Given the description of an element on the screen output the (x, y) to click on. 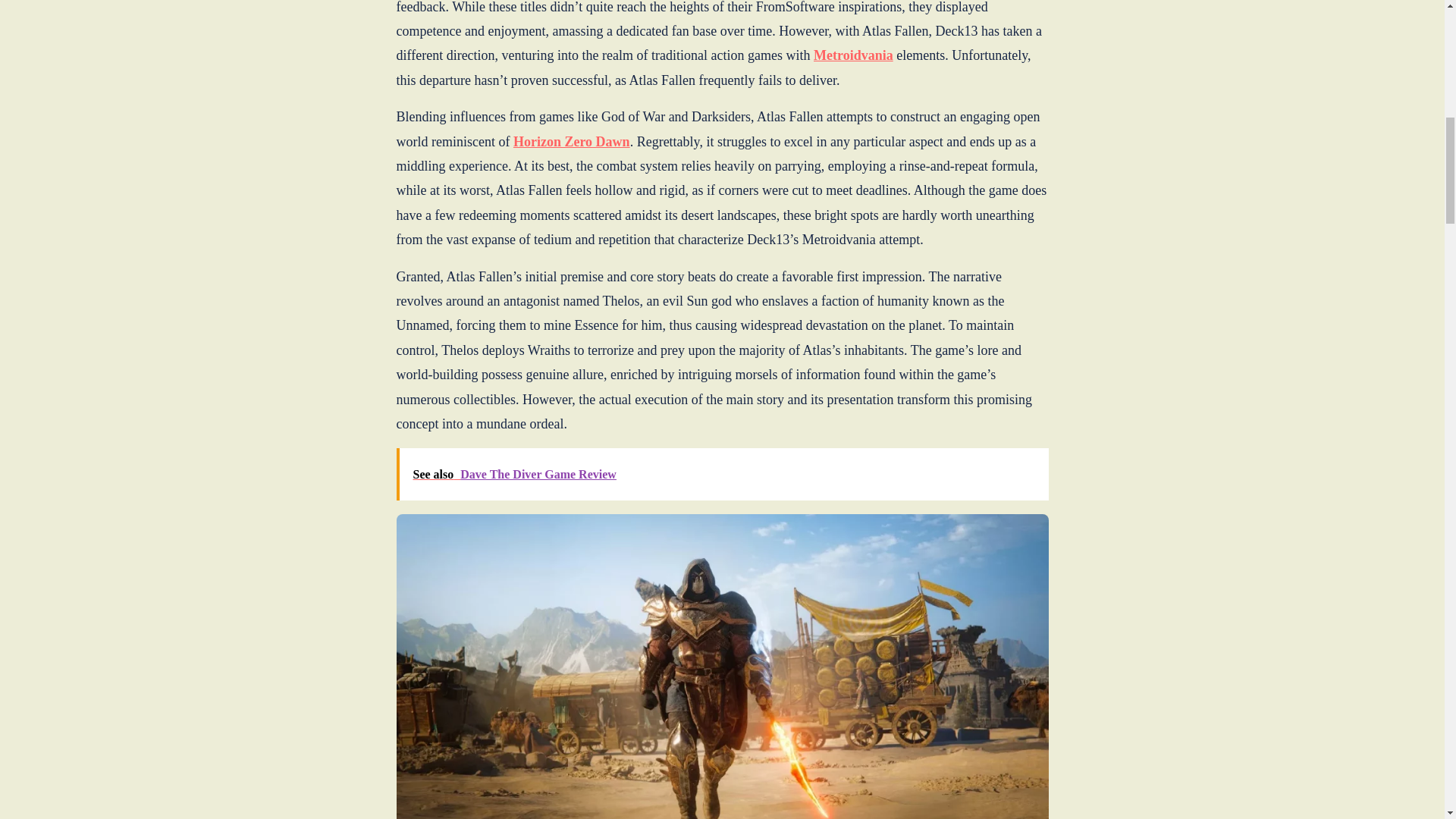
Metroidvania (853, 55)
See also  Dave The Diver Game Review (722, 473)
Horizon Zero Dawn (571, 141)
